Given the description of an element on the screen output the (x, y) to click on. 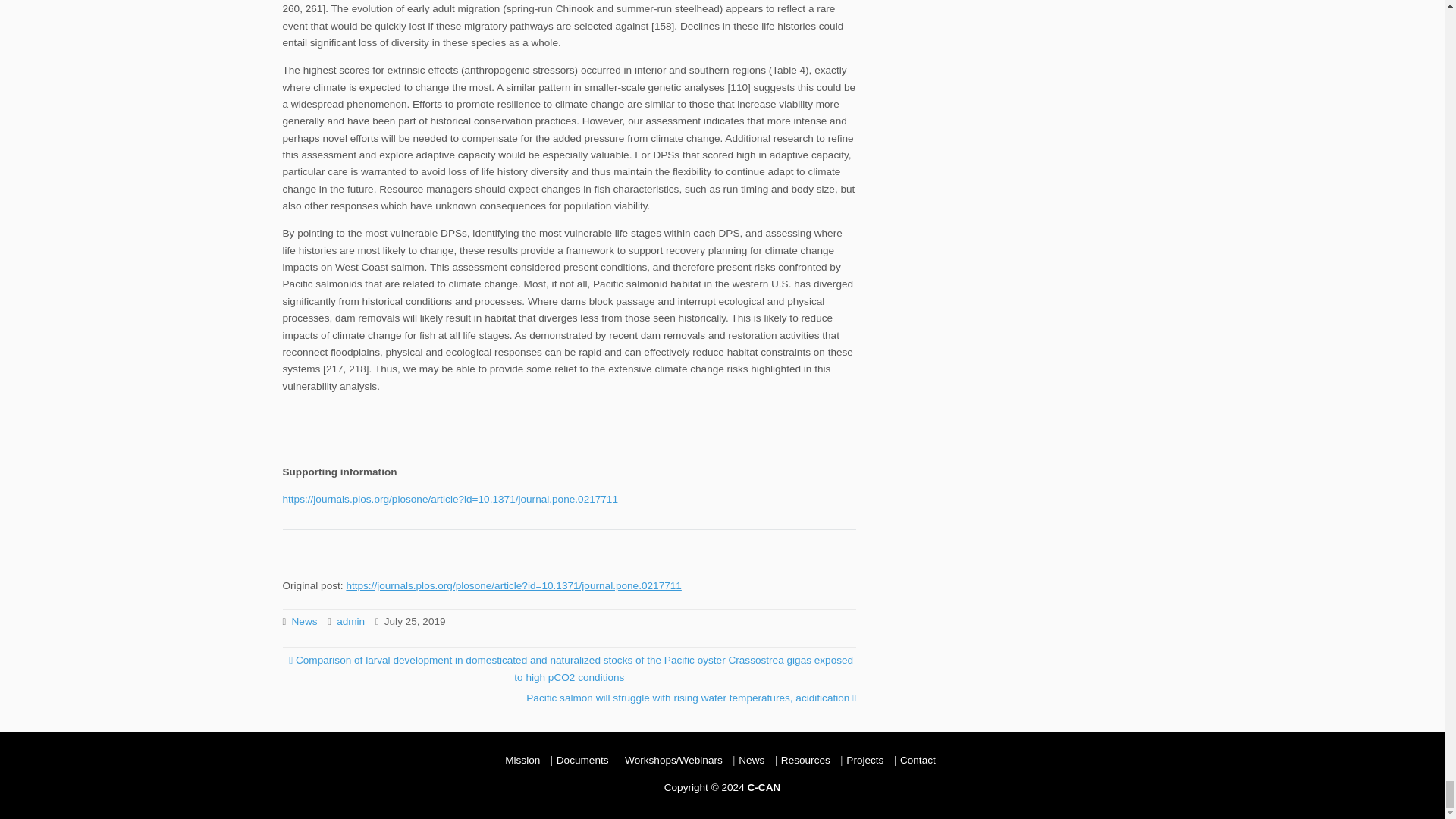
admin (350, 621)
